Given the description of an element on the screen output the (x, y) to click on. 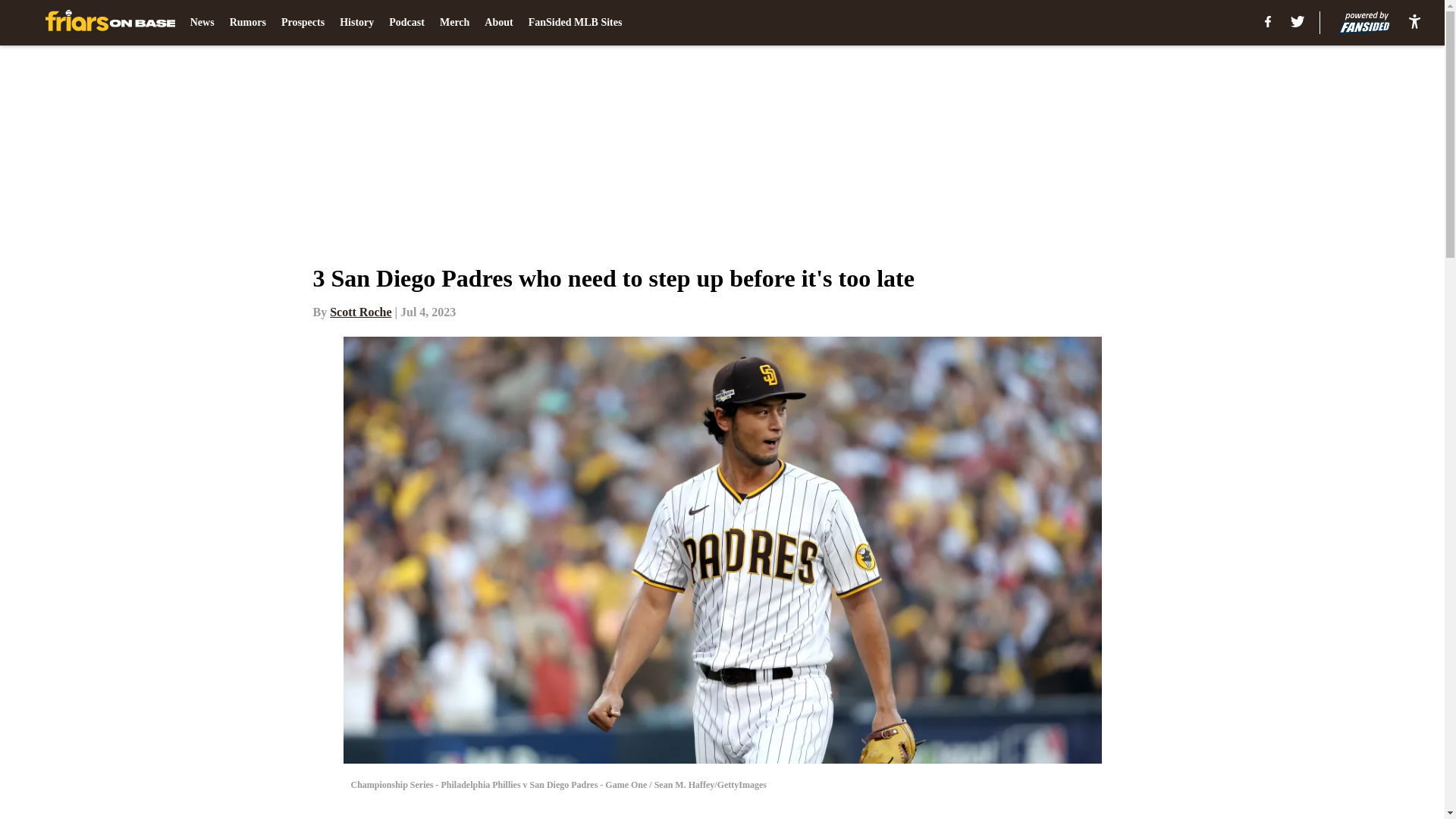
Scott Roche (360, 311)
News (202, 22)
History (356, 22)
FanSided MLB Sites (575, 22)
Prospects (302, 22)
Merch (453, 22)
About (498, 22)
Rumors (248, 22)
Podcast (406, 22)
